Given the description of an element on the screen output the (x, y) to click on. 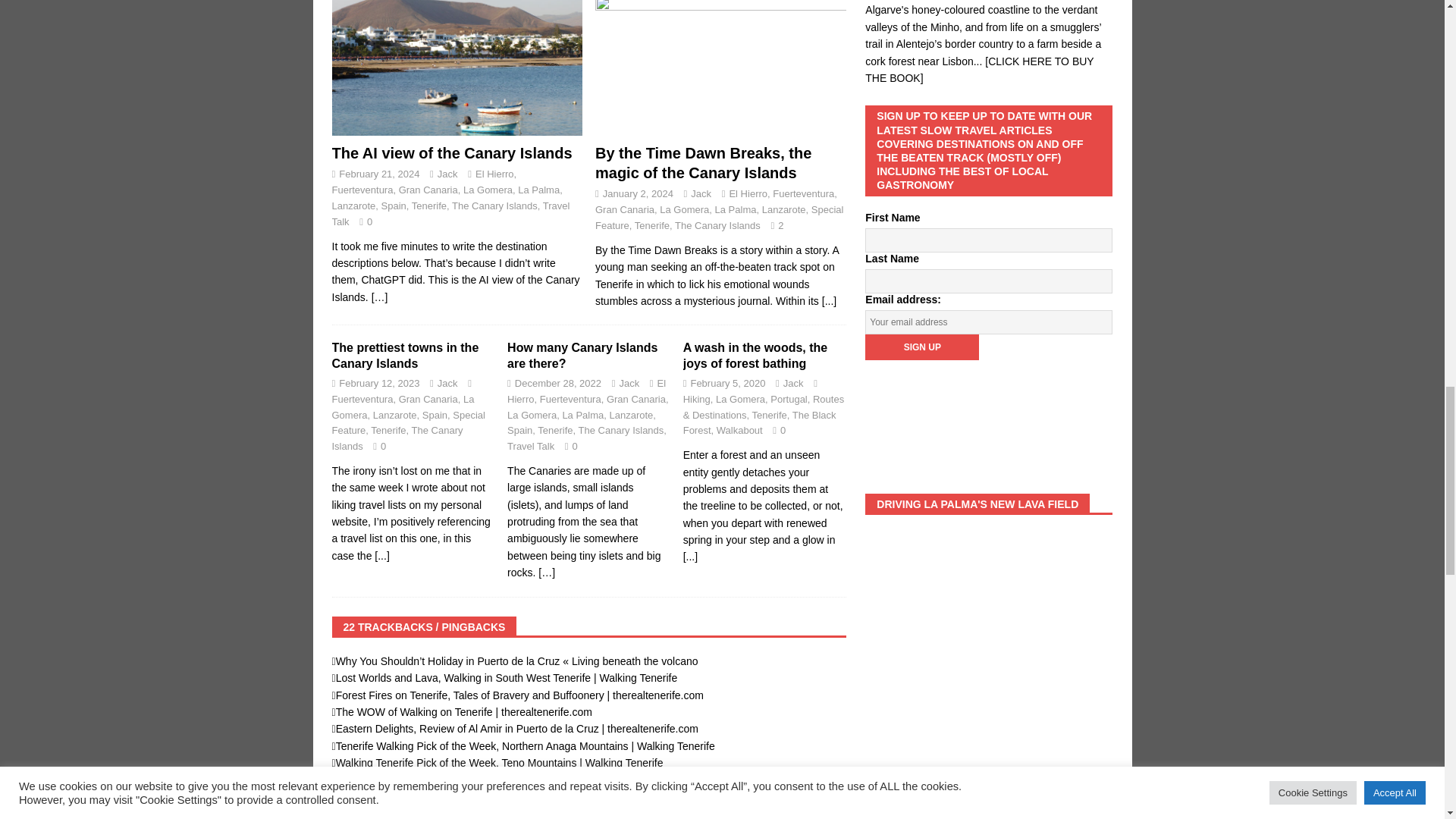
By the Time Dawn Breaks, the magic of the Canary Islands (702, 162)
By the Time Dawn Breaks, the magic of the Canary Islands (720, 68)
Sign up (921, 347)
The AI view of the Canary Islands (451, 152)
The prettiest towns in the Canary Islands (405, 355)
The AI view of the Canary Islands (457, 68)
By the Time Dawn Breaks, the magic of the Canary Islands (828, 300)
